Given the description of an element on the screen output the (x, y) to click on. 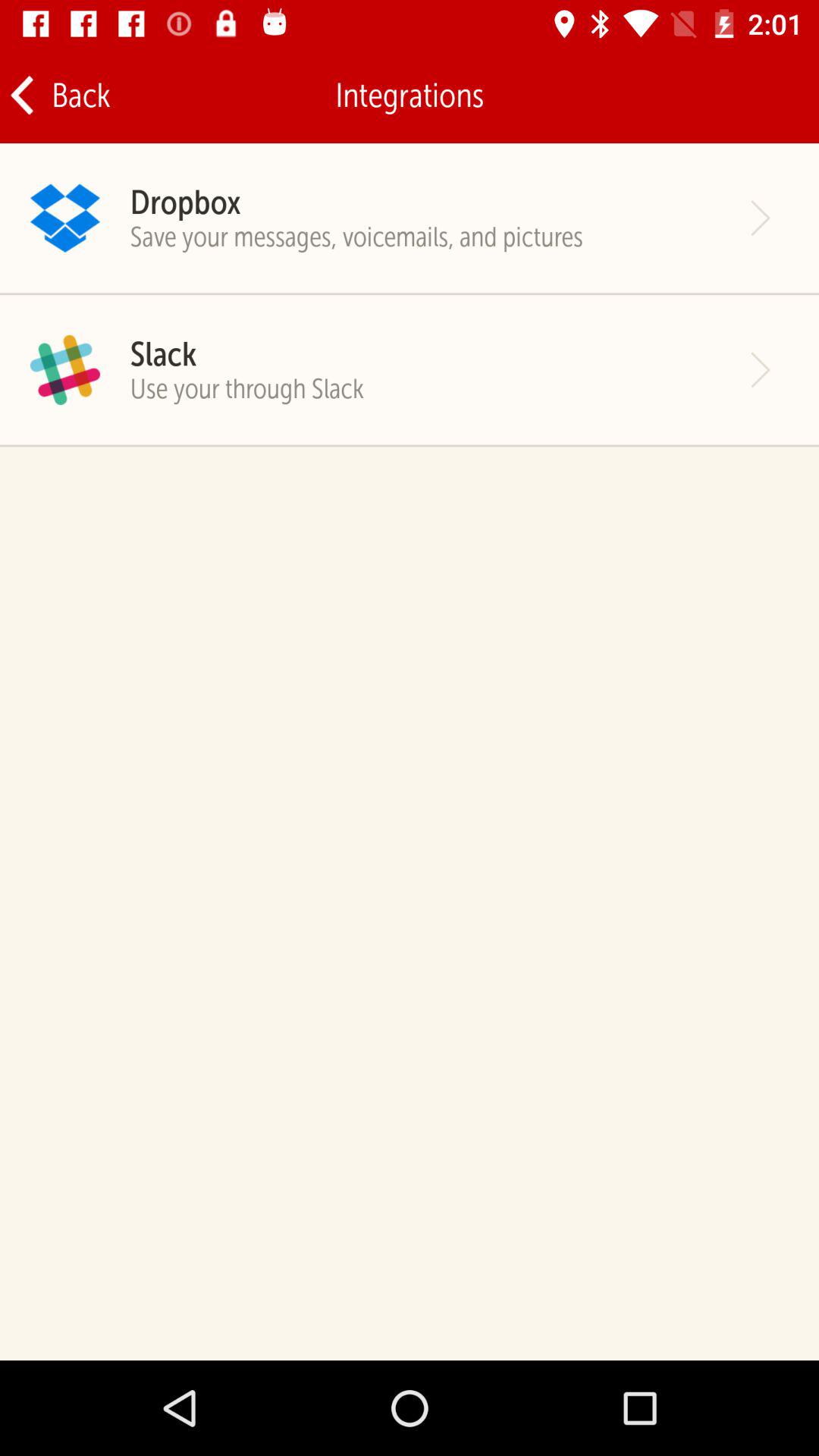
press dropbox item (185, 202)
